Given the description of an element on the screen output the (x, y) to click on. 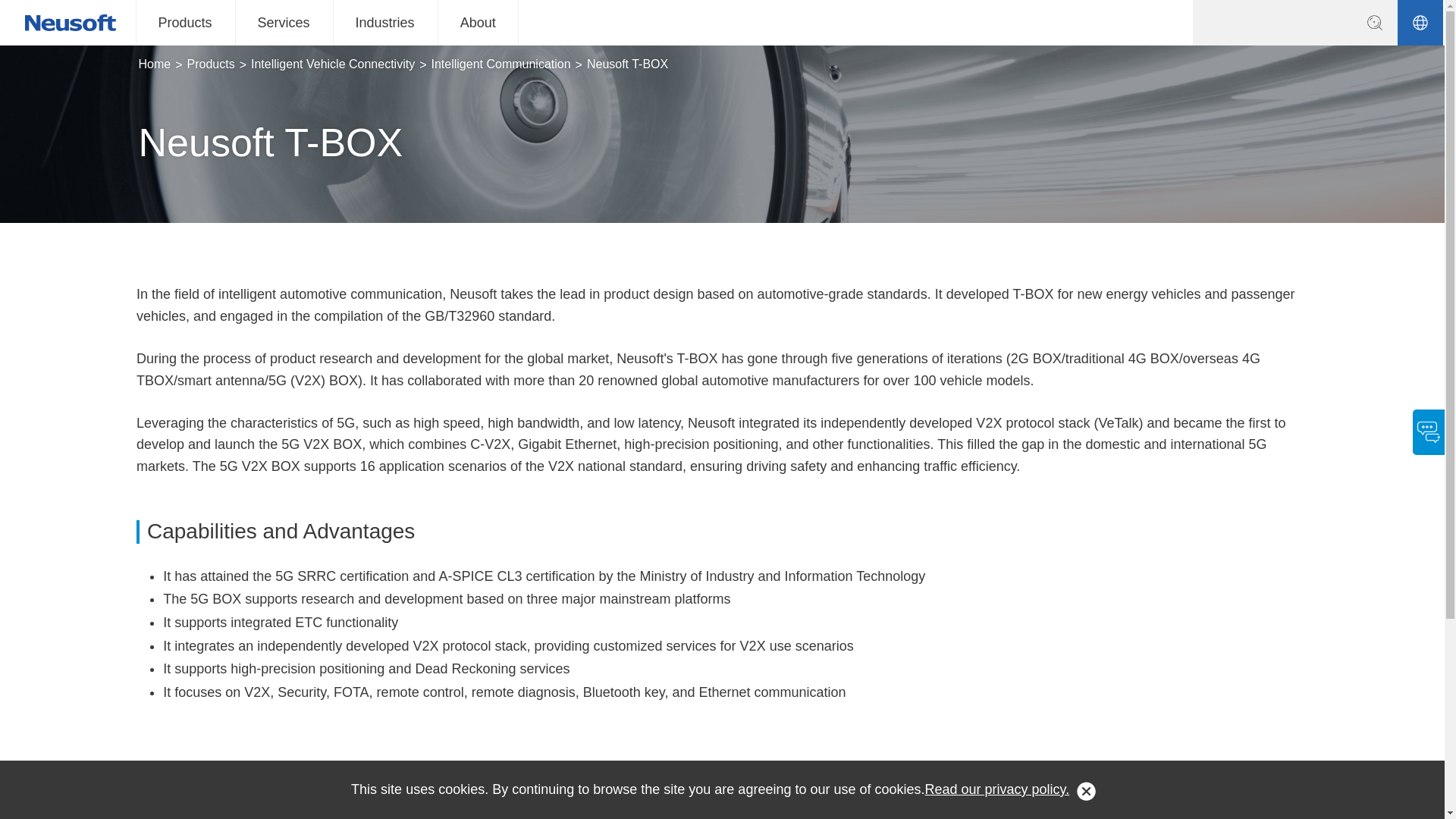
Industries (385, 22)
Products (184, 22)
About (478, 22)
Read our privacy policy. (997, 789)
Services (283, 22)
